Given the description of an element on the screen output the (x, y) to click on. 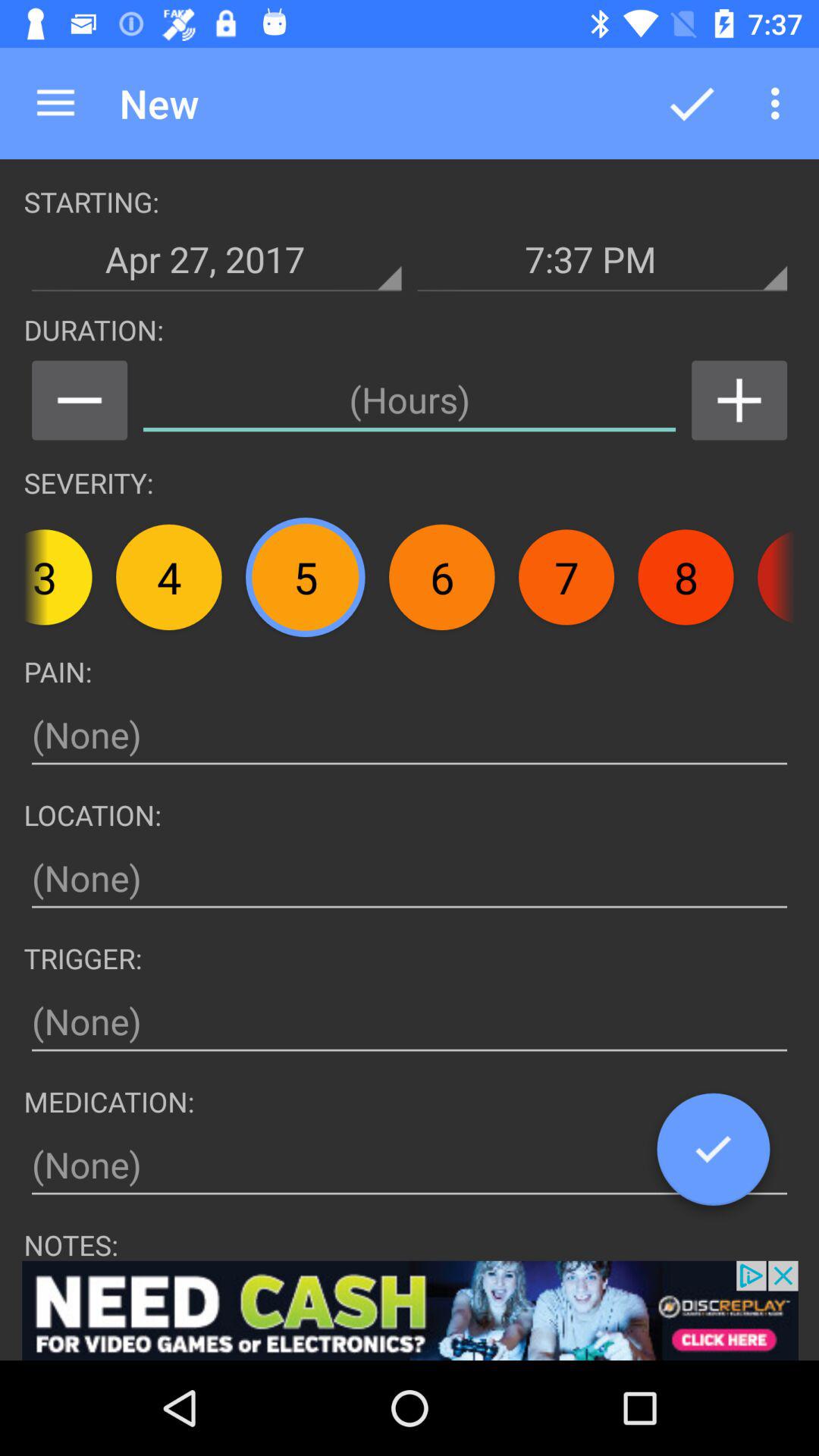
add pain information (409, 735)
